Given the description of an element on the screen output the (x, y) to click on. 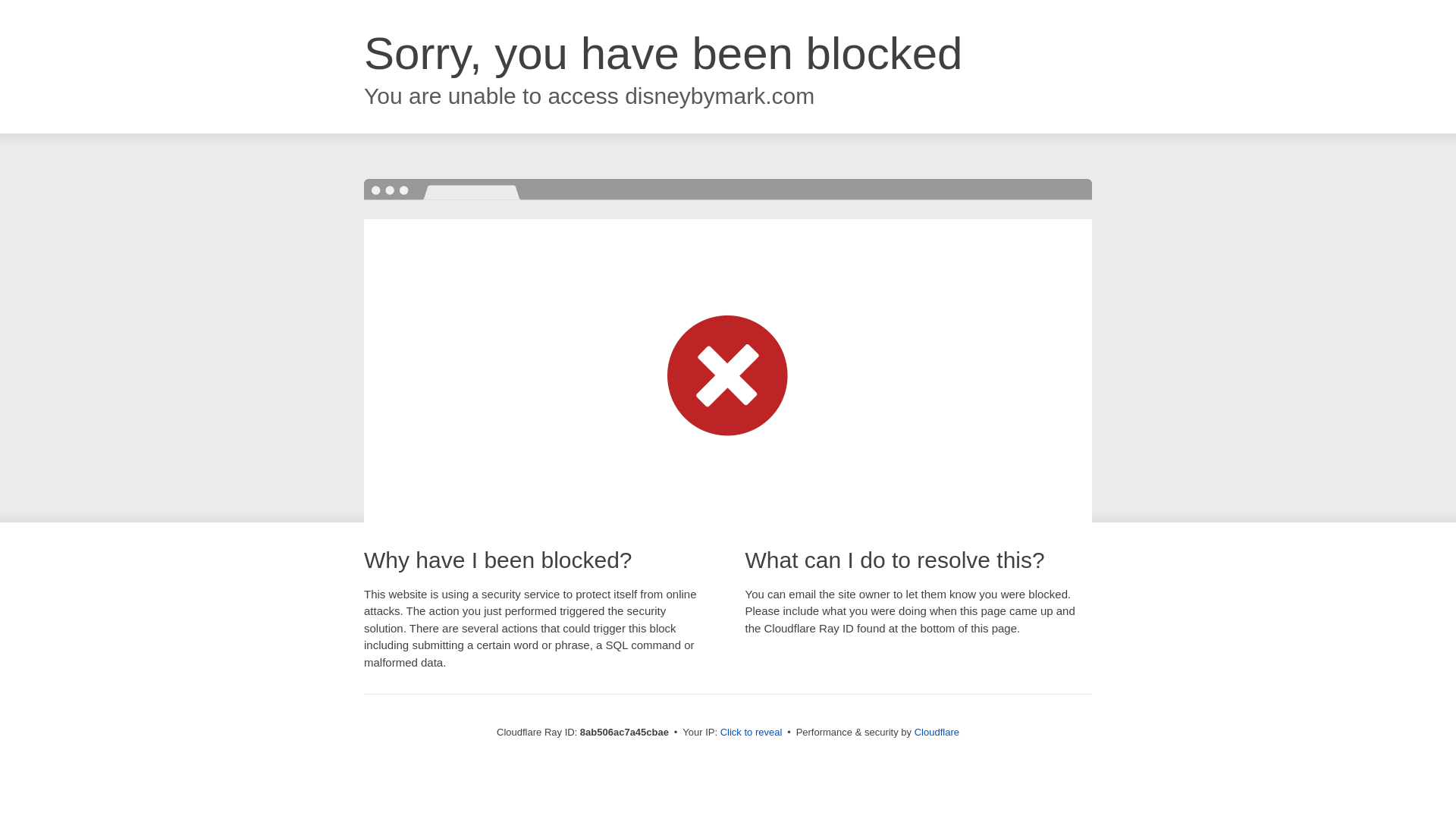
Click to reveal (751, 732)
Cloudflare (936, 731)
